Given the description of an element on the screen output the (x, y) to click on. 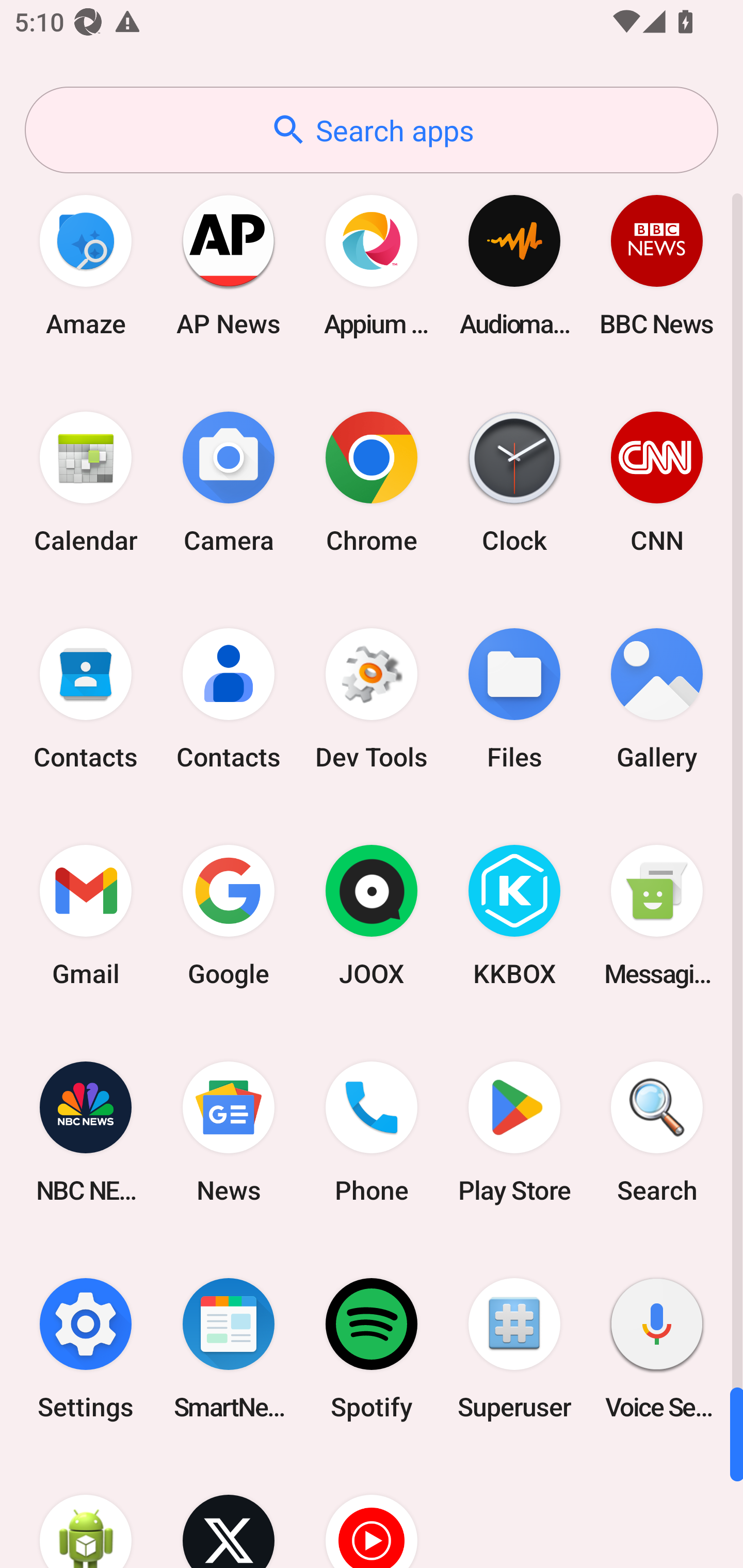
  Search apps (371, 130)
Amaze (85, 264)
AP News (228, 264)
Appium Settings (371, 264)
Audio­mack (514, 264)
BBC News (656, 264)
Calendar (85, 482)
Camera (228, 482)
Chrome (371, 482)
Clock (514, 482)
CNN (656, 482)
Contacts (85, 699)
Contacts (228, 699)
Dev Tools (371, 699)
Files (514, 699)
Gallery (656, 699)
Gmail (85, 915)
Google (228, 915)
JOOX (371, 915)
KKBOX (514, 915)
Messaging (656, 915)
NBC NEWS (85, 1131)
News (228, 1131)
Phone (371, 1131)
Play Store (514, 1131)
Search (656, 1131)
Settings (85, 1348)
SmartNews (228, 1348)
Spotify (371, 1348)
Superuser (514, 1348)
Voice Search (656, 1348)
WebView Browser Tester (85, 1512)
X (228, 1512)
YT Music (371, 1512)
